Given the description of an element on the screen output the (x, y) to click on. 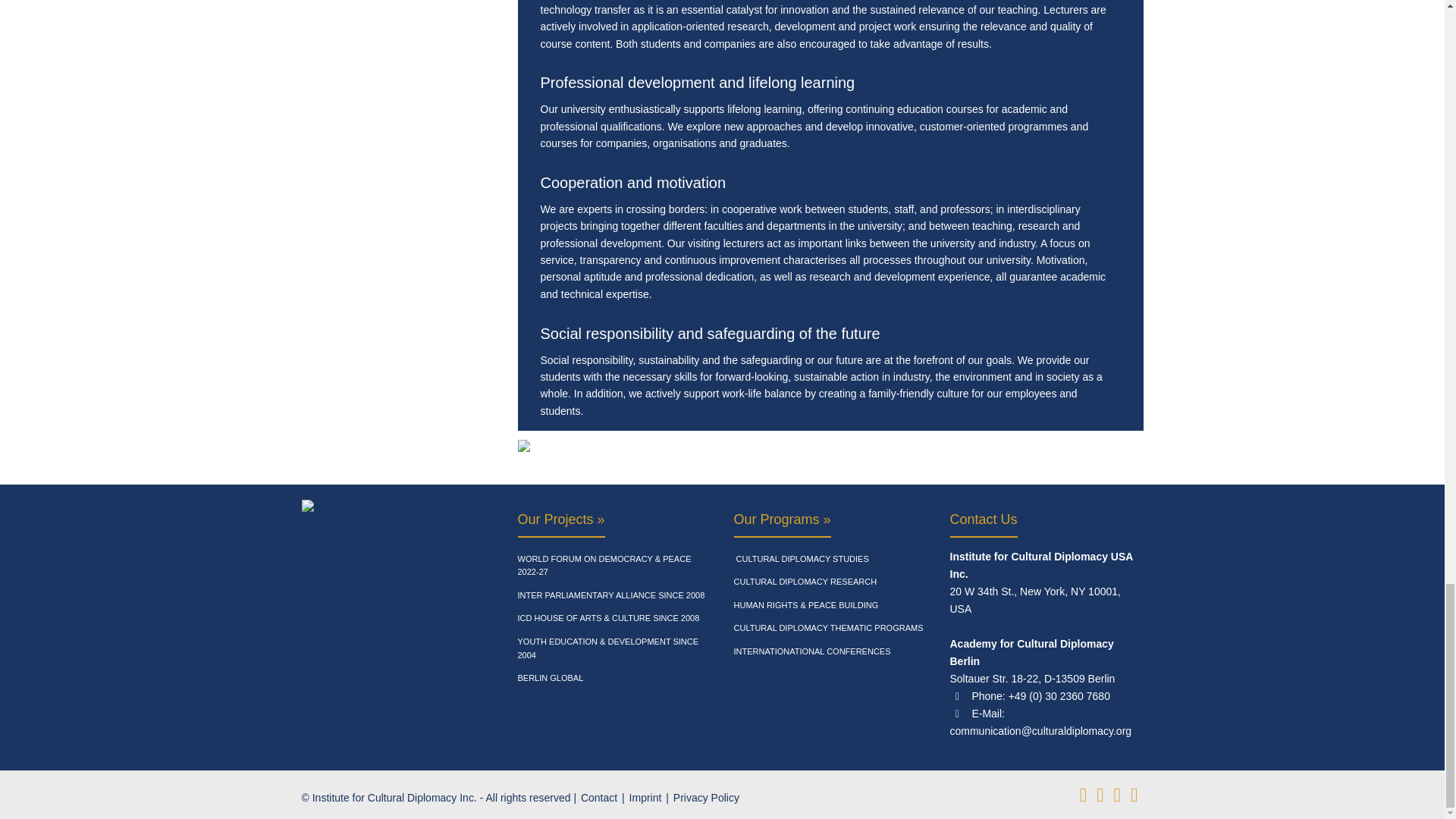
Inter Parliamentary Alliance for Human Rights (610, 595)
Academy for Cultural Diplomacy (613, 565)
